Given the description of an element on the screen output the (x, y) to click on. 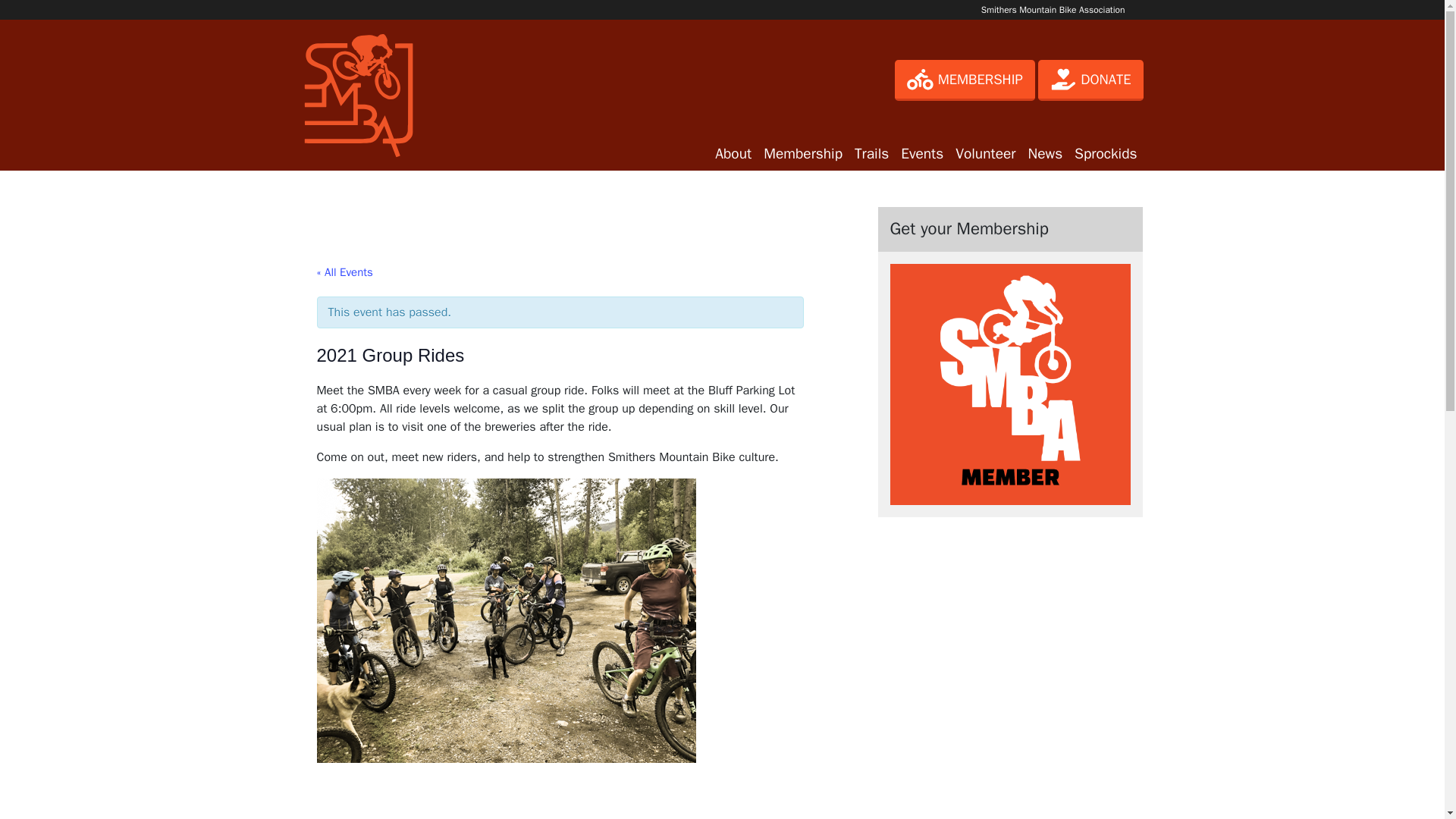
Events (922, 154)
Sprockids (1105, 154)
Trails (871, 154)
News (1045, 154)
Volunteer (985, 154)
About (733, 154)
MEMBERSHIP (965, 79)
Membership (802, 154)
DONATE (1090, 79)
